Given the description of an element on the screen output the (x, y) to click on. 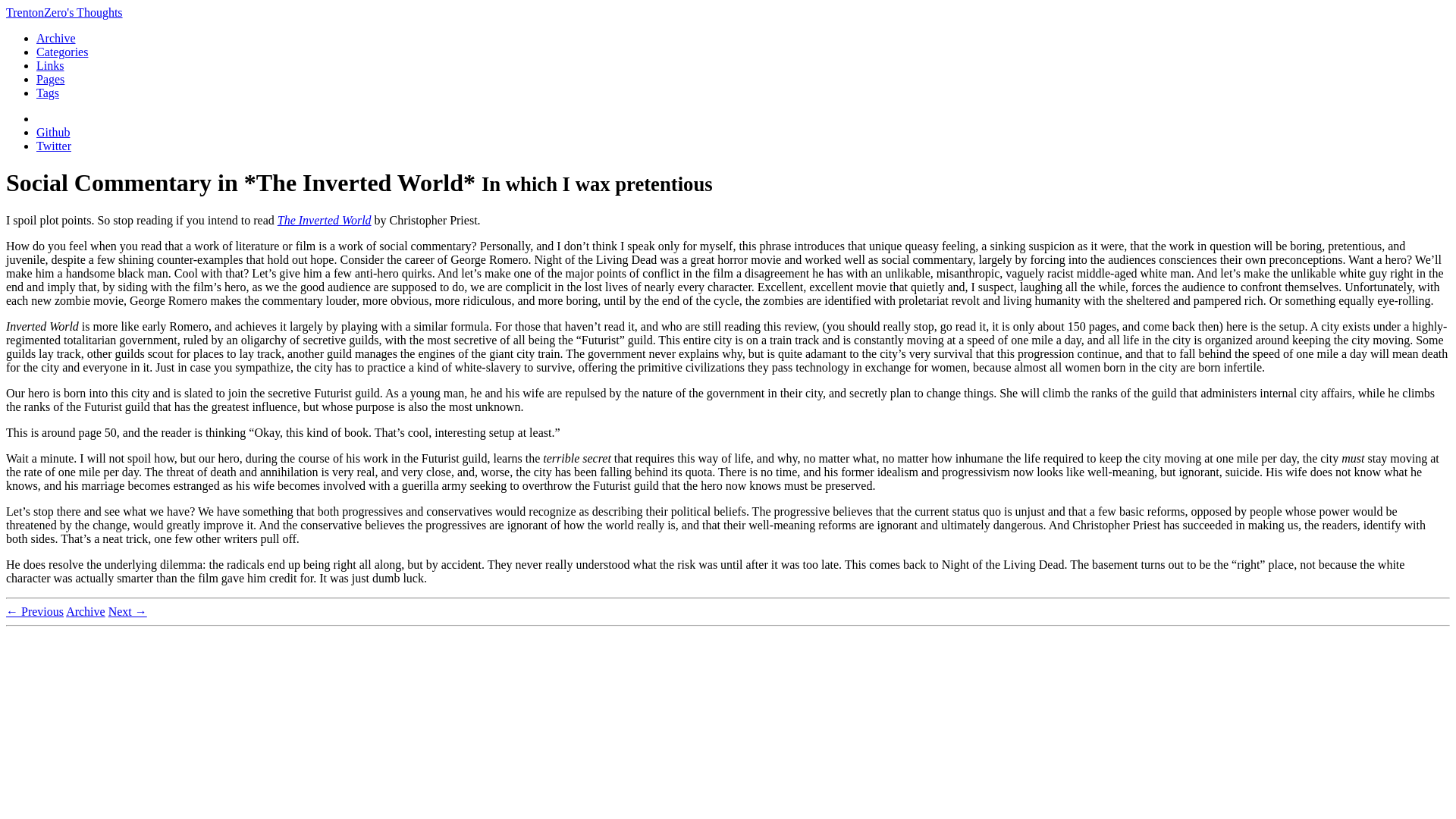
The Inverted World (324, 219)
Tags (47, 92)
Archive (84, 611)
Pages (50, 78)
Github (52, 132)
Archive (55, 38)
Links (50, 65)
TrentonZero's Thoughts (63, 11)
Categories (61, 51)
Twitter (53, 145)
Daily Poem 6 (34, 611)
